Given the description of an element on the screen output the (x, y) to click on. 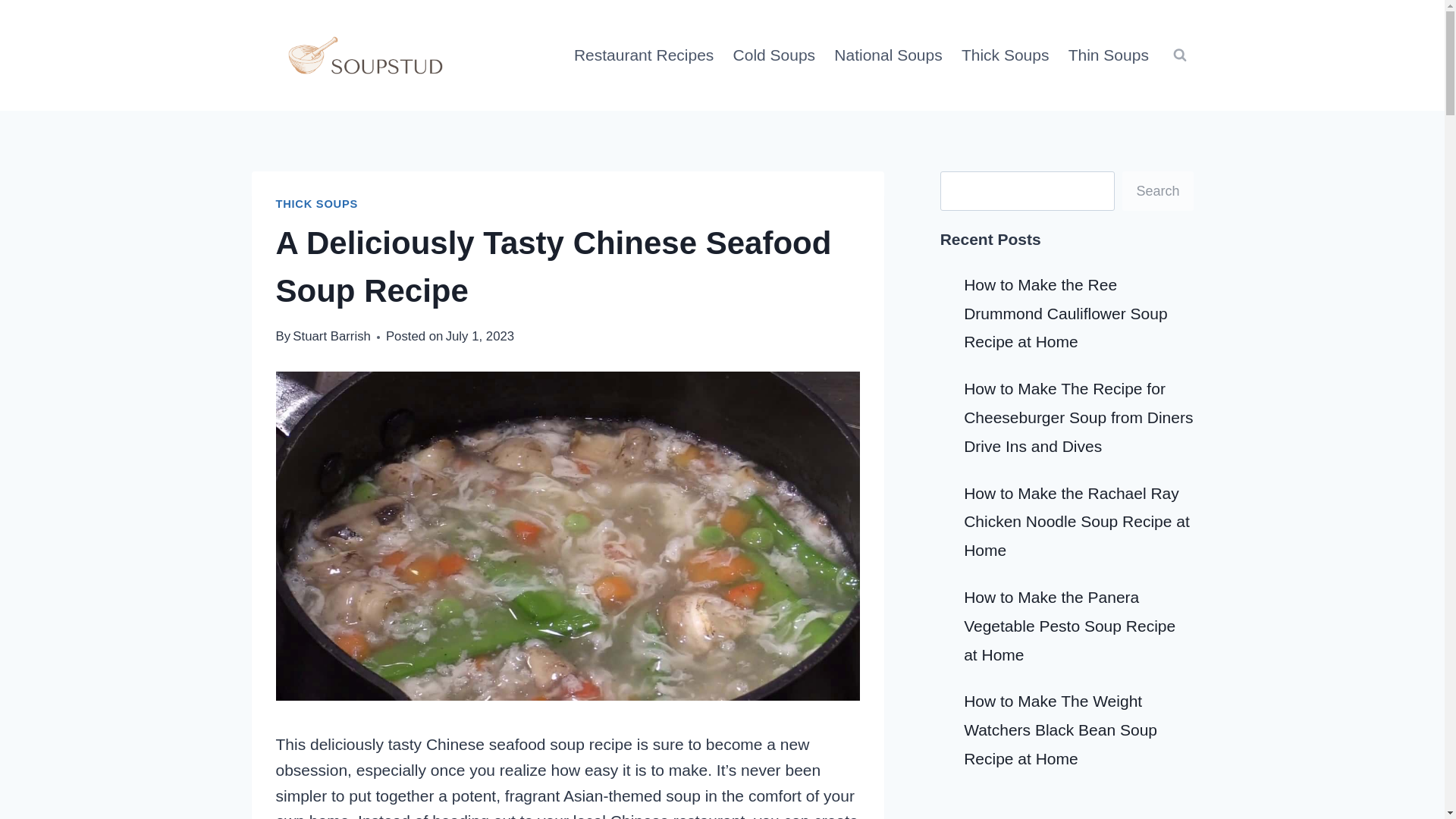
Restaurant Recipes (643, 55)
Thin Soups (1107, 55)
Cold Soups (774, 55)
Stuart Barrish (331, 336)
National Soups (888, 55)
Thick Soups (1005, 55)
THICK SOUPS (317, 203)
